Given the description of an element on the screen output the (x, y) to click on. 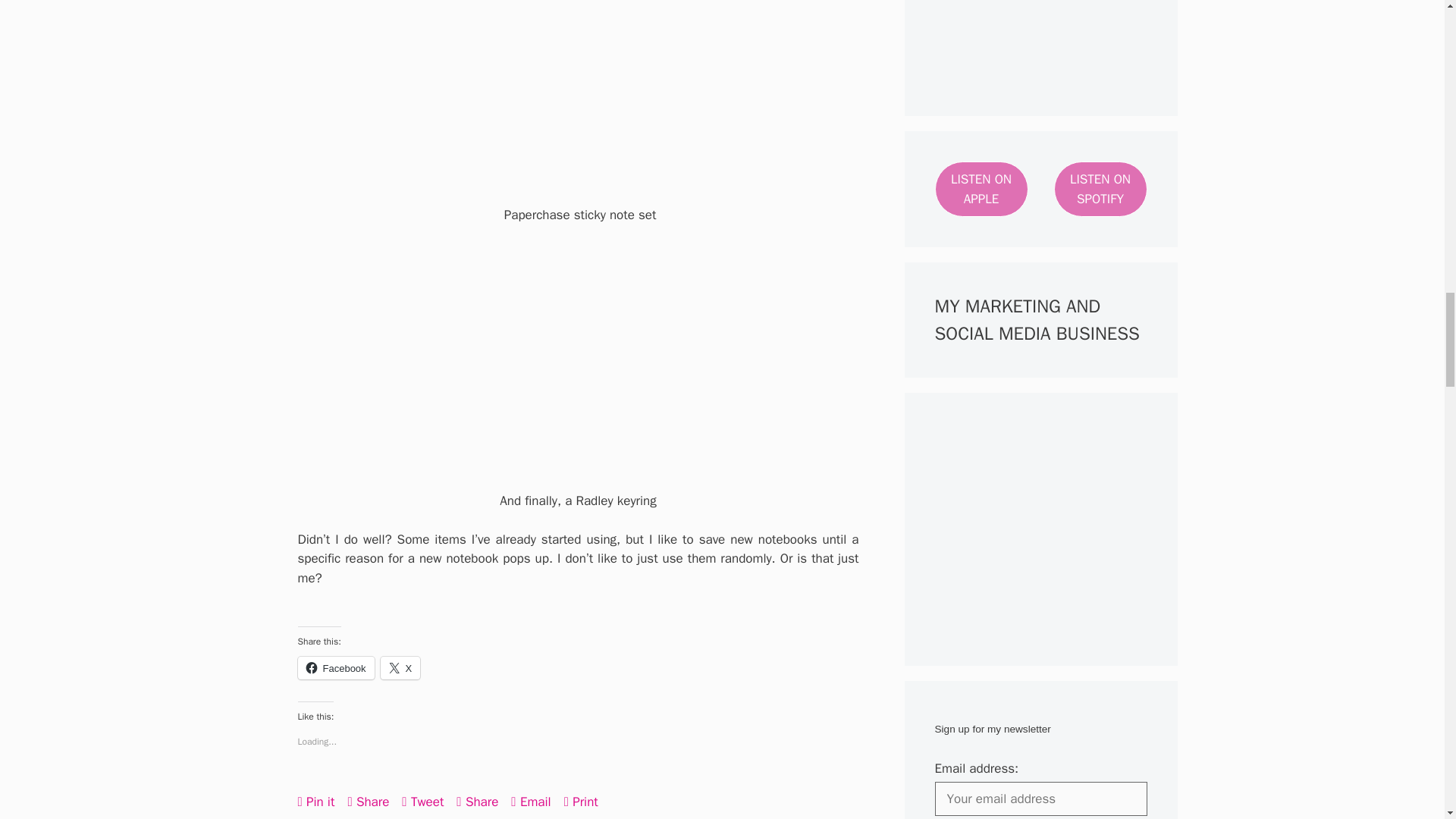
Click to share on X (400, 667)
Facebook (335, 667)
X (400, 667)
Click to share on Facebook (335, 667)
Share by Email (530, 801)
